Given the description of an element on the screen output the (x, y) to click on. 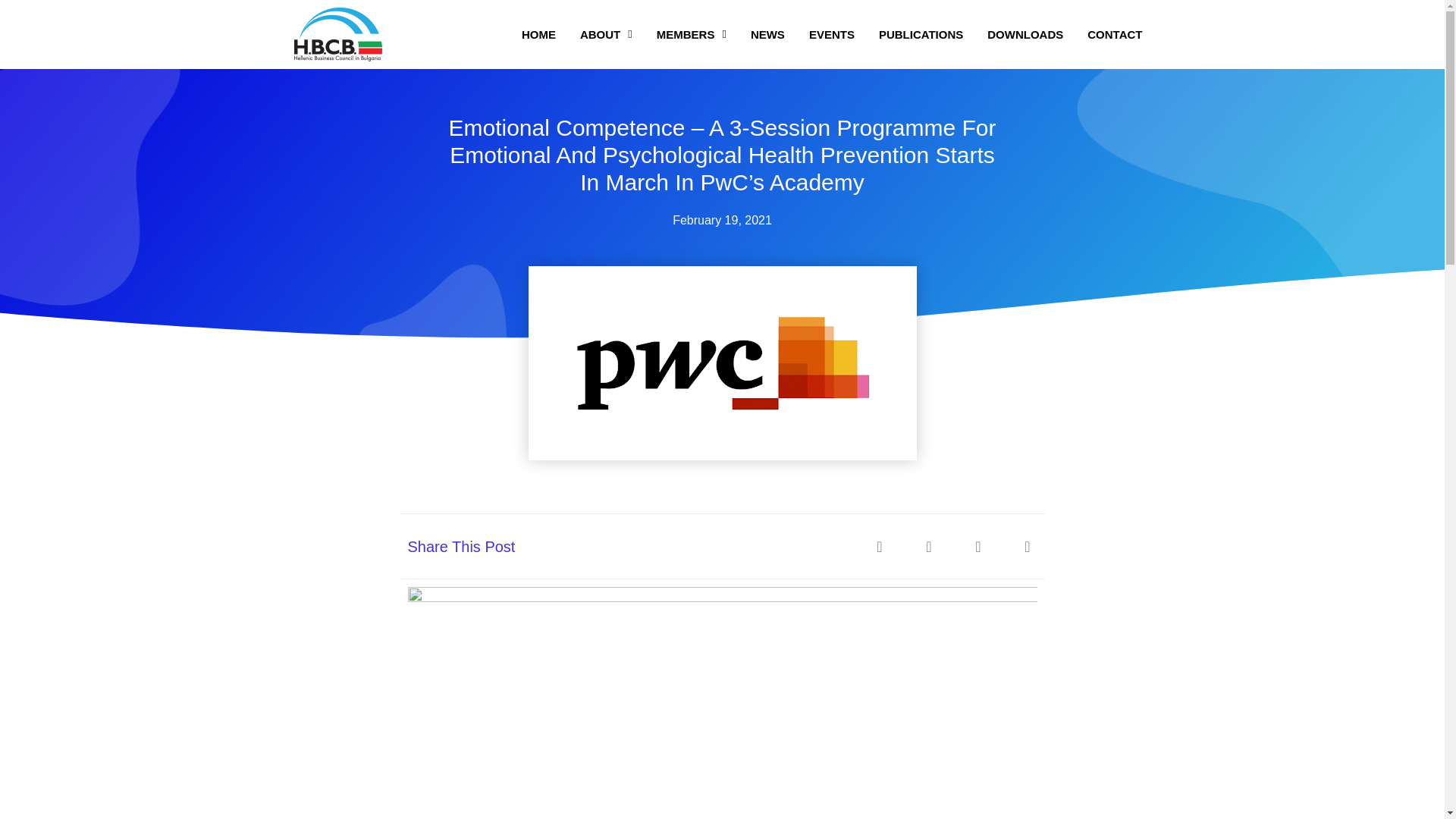
MEMBERS (691, 33)
PUBLICATIONS (920, 33)
EVENTS (831, 33)
ABOUT (606, 33)
NEWS (767, 33)
HOME (538, 33)
DOWNLOADS (1025, 33)
CONTACT (1114, 33)
